Given the description of an element on the screen output the (x, y) to click on. 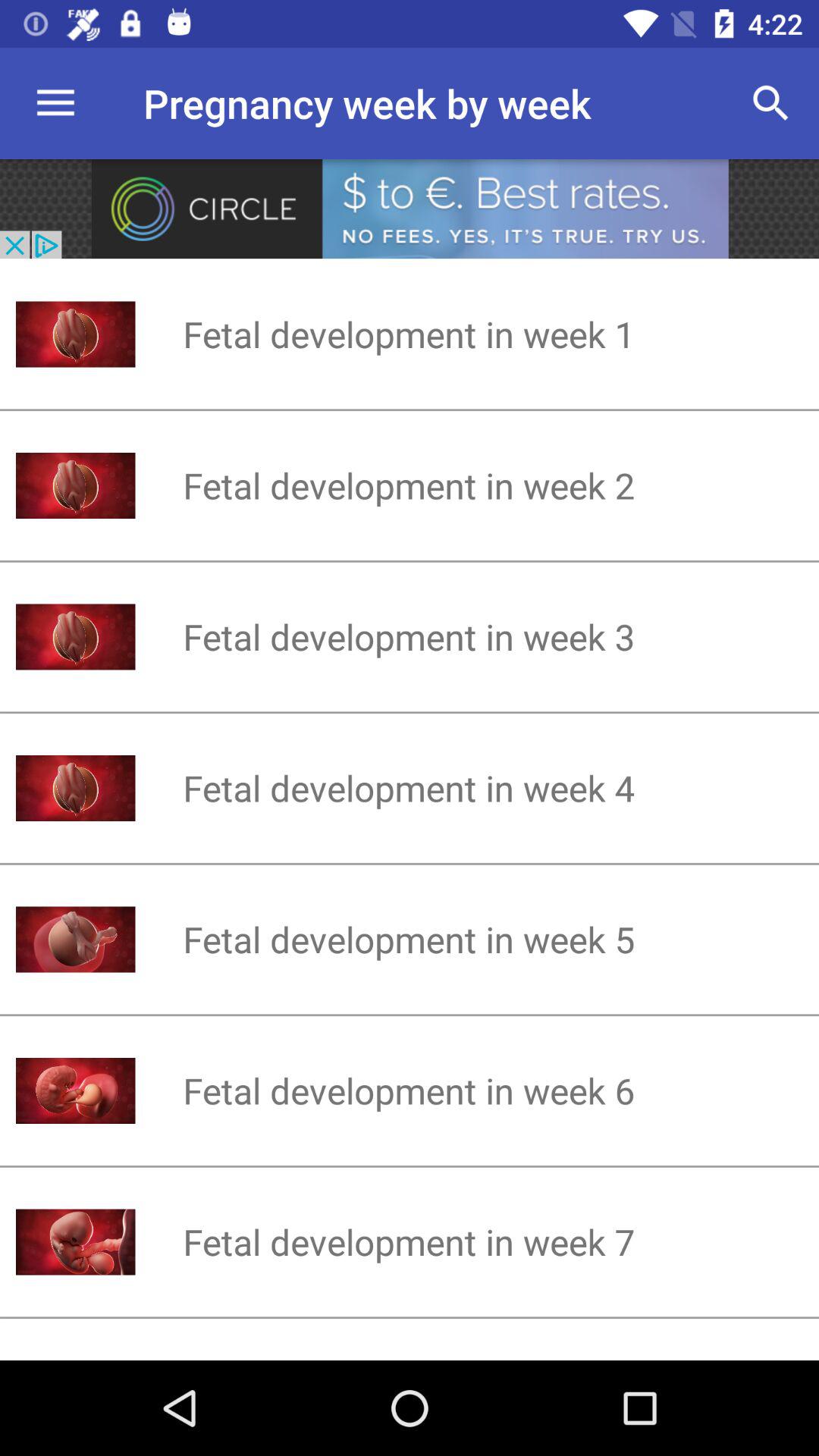
select the image on the top left corner of the web page (75, 1241)
click on image beside fetal development in week 4 (75, 788)
click the image left to fetal development in week 2 (75, 485)
click on the first image at the left side of the page (75, 334)
